Given the description of an element on the screen output the (x, y) to click on. 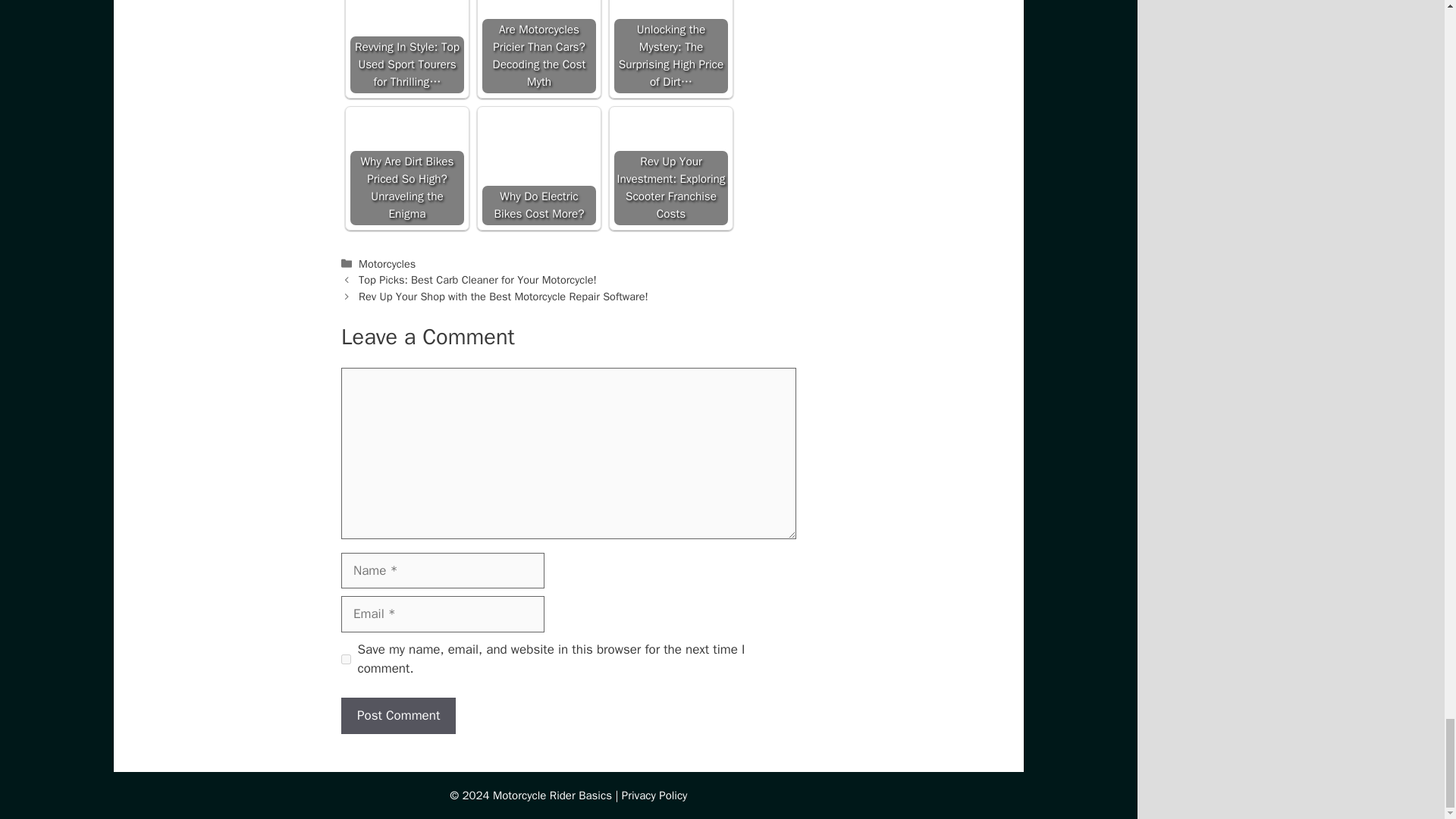
Privacy Policy (654, 795)
Top Picks: Best Carb Cleaner for Your Motorcycle! (477, 279)
Are Motorcycles Pricier Than Cars? Decoding the Cost Myth (538, 27)
yes (345, 659)
Why Do Electric Bikes Cost More? (538, 168)
Why Do Electric Bikes Cost More? (538, 150)
Rev Up Your Investment: Exploring Scooter Franchise Costs (671, 168)
Why Are Dirt Bikes Priced So High? Unraveling the Enigma (407, 168)
Motorcycles (386, 264)
